Given the description of an element on the screen output the (x, y) to click on. 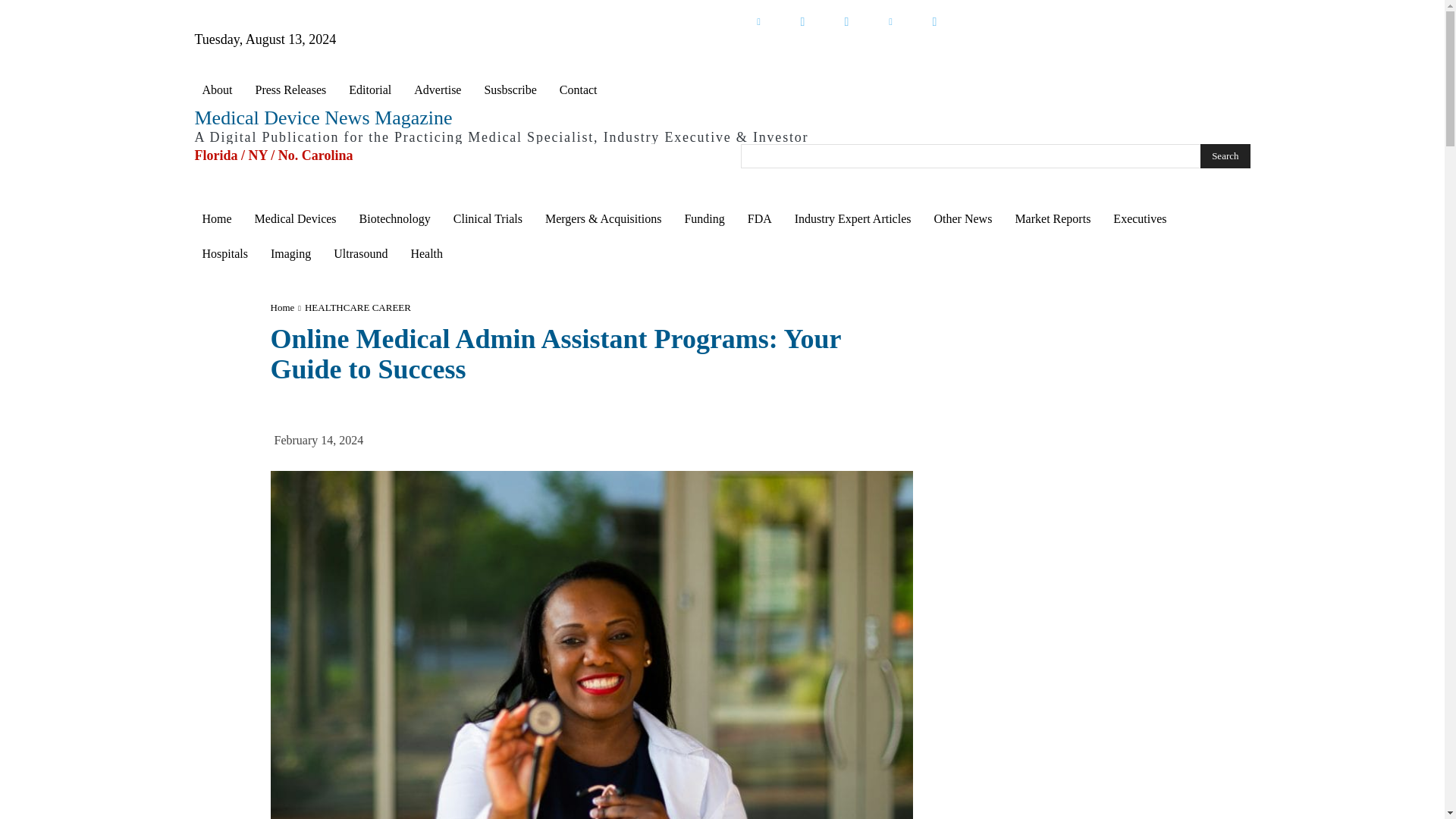
Medical Devices (295, 218)
LinkedIn (757, 22)
Editorial (369, 89)
Search (1224, 156)
Advertise (437, 89)
Press Releases (290, 89)
Instagram (933, 22)
Home (215, 218)
Clinical Trials (487, 218)
Funding (704, 218)
